Given the description of an element on the screen output the (x, y) to click on. 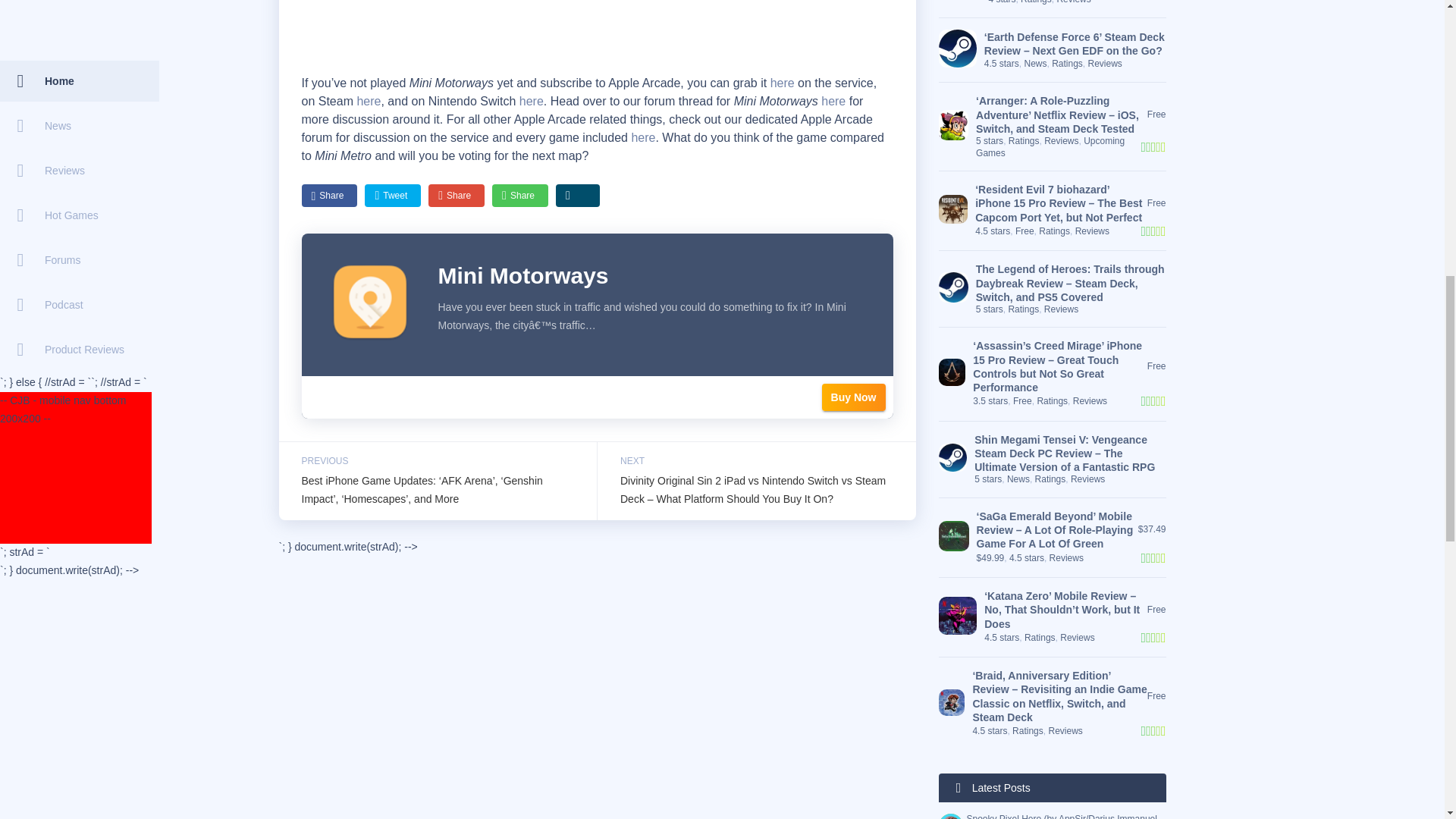
Share on WhatsApp (520, 195)
Share on Facebook (329, 195)
Open modal social networks (577, 195)
Tweet (392, 195)
